Given the description of an element on the screen output the (x, y) to click on. 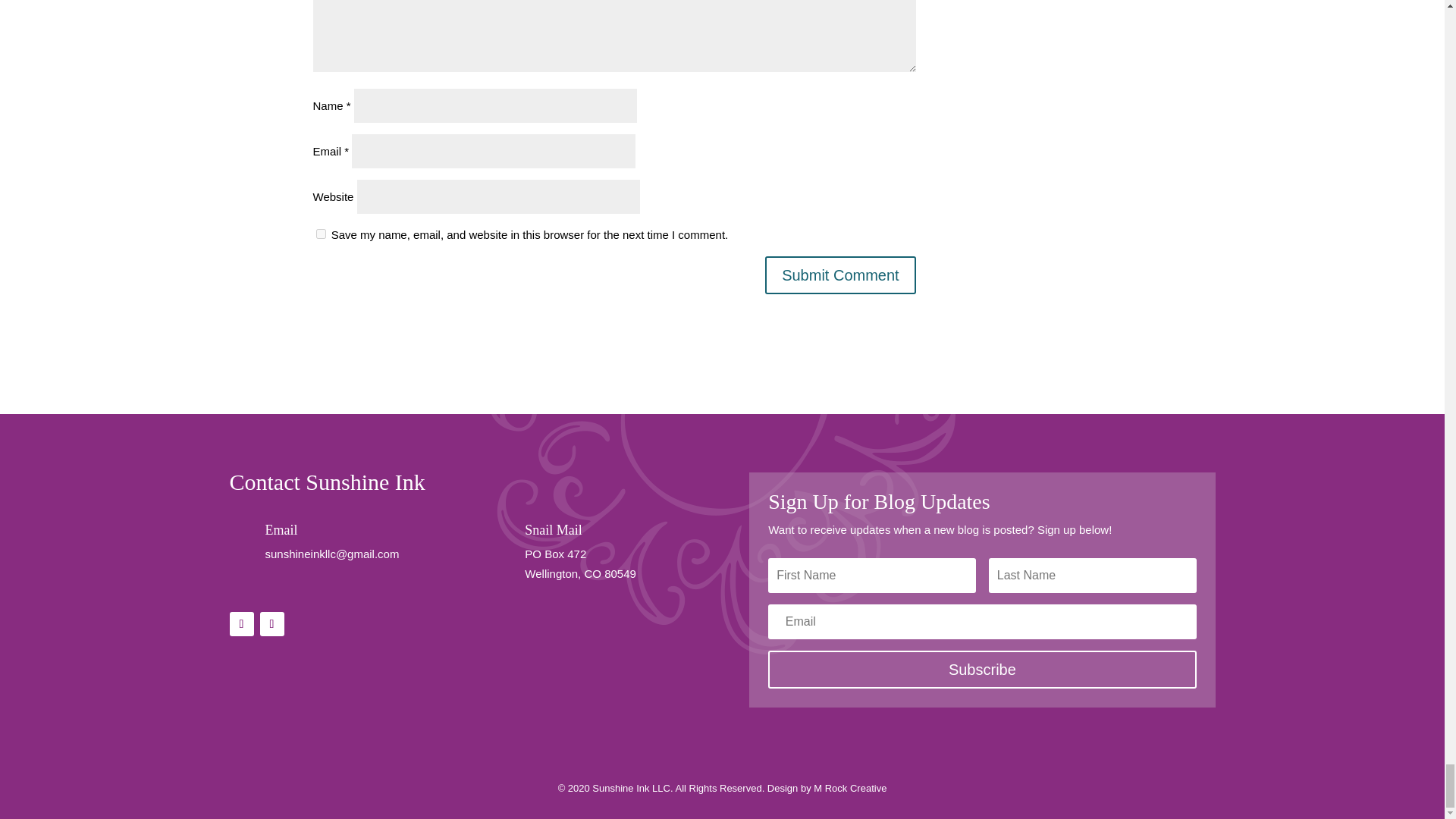
Submit Comment (840, 275)
Follow on Instagram (271, 623)
Submit Comment (840, 275)
Follow on Facebook (240, 623)
yes (319, 234)
